Given the description of an element on the screen output the (x, y) to click on. 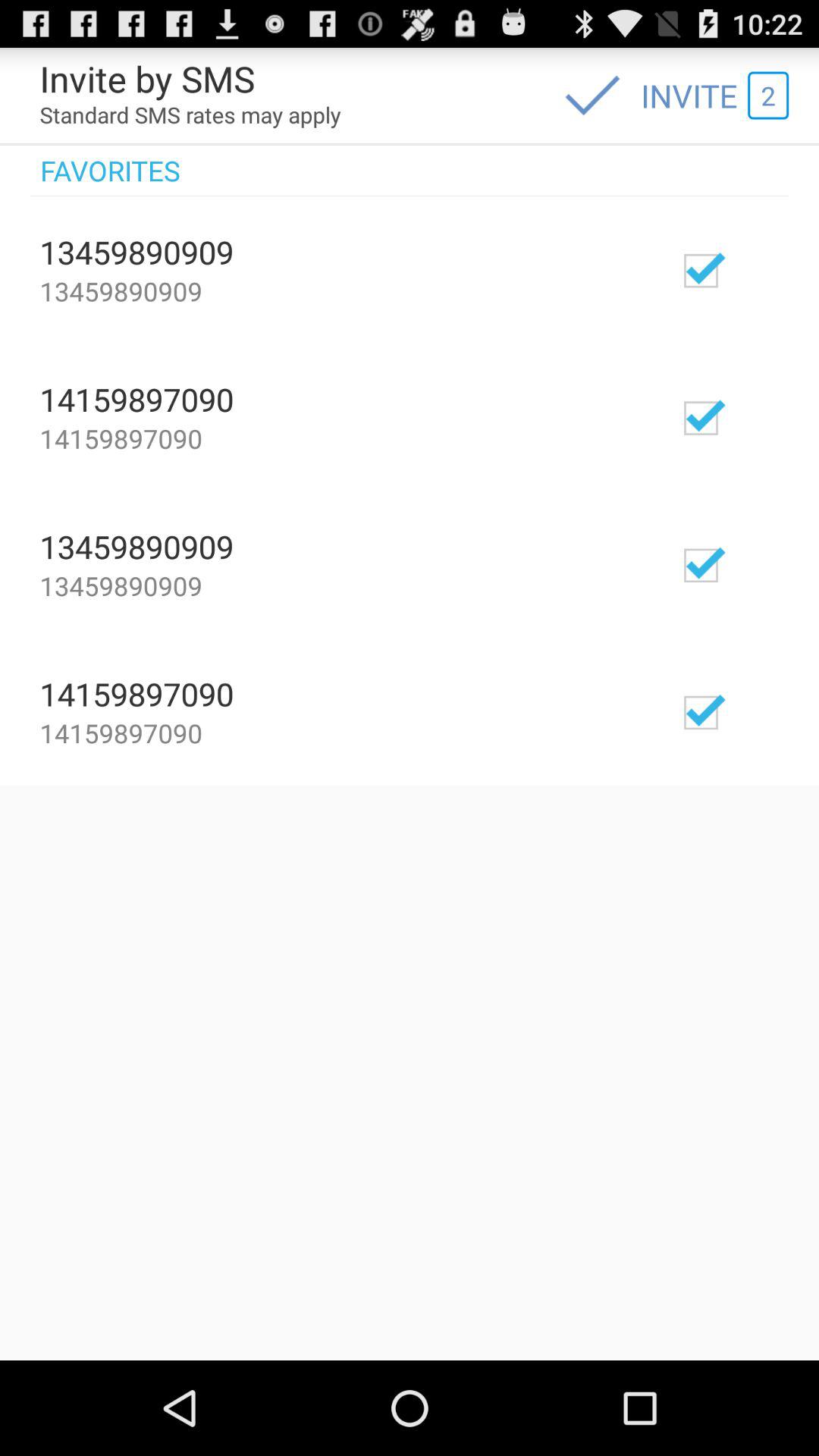
select invite (745, 269)
